Given the description of an element on the screen output the (x, y) to click on. 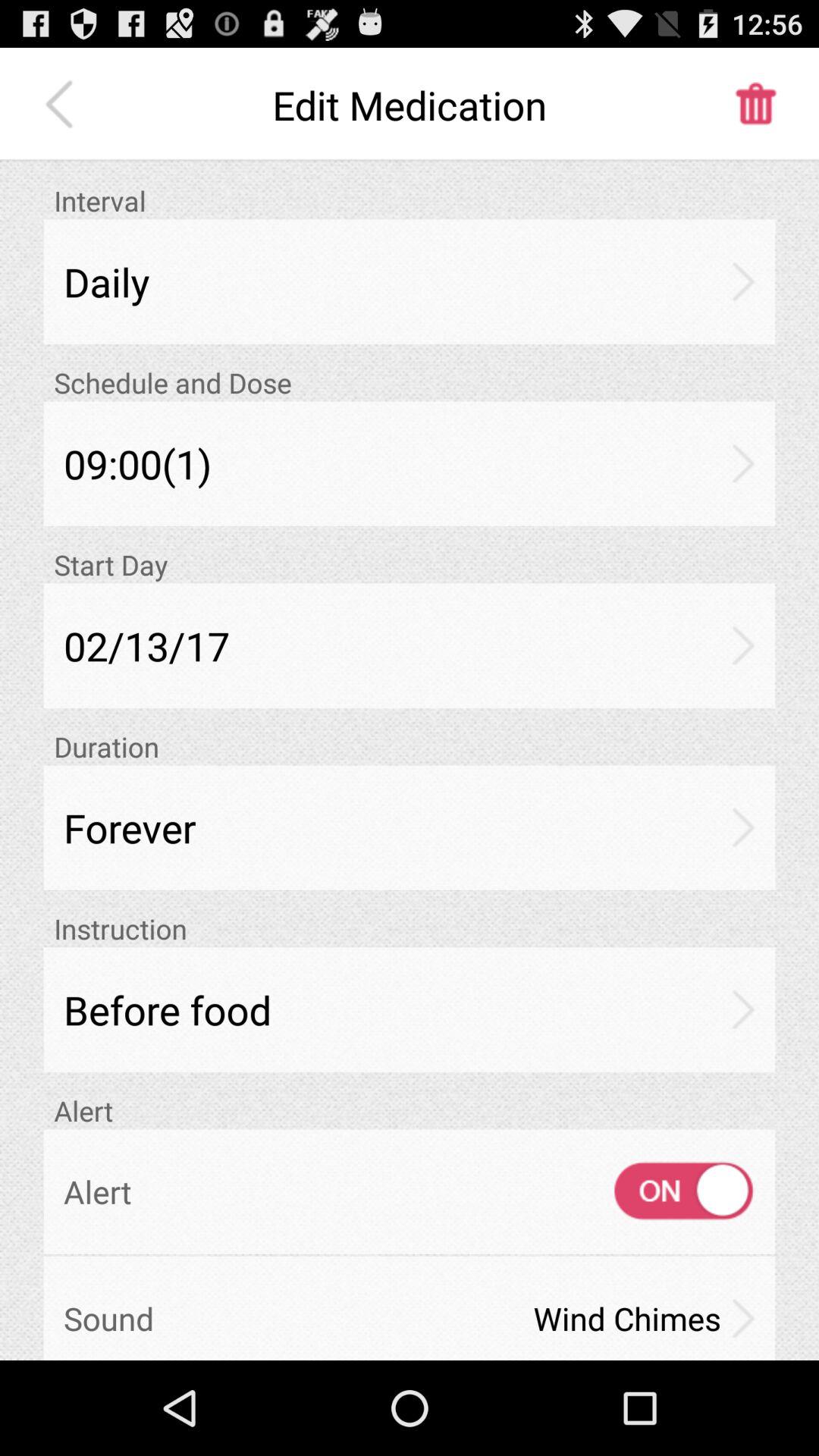
turn on the item below alert icon (670, 1191)
